Given the description of an element on the screen output the (x, y) to click on. 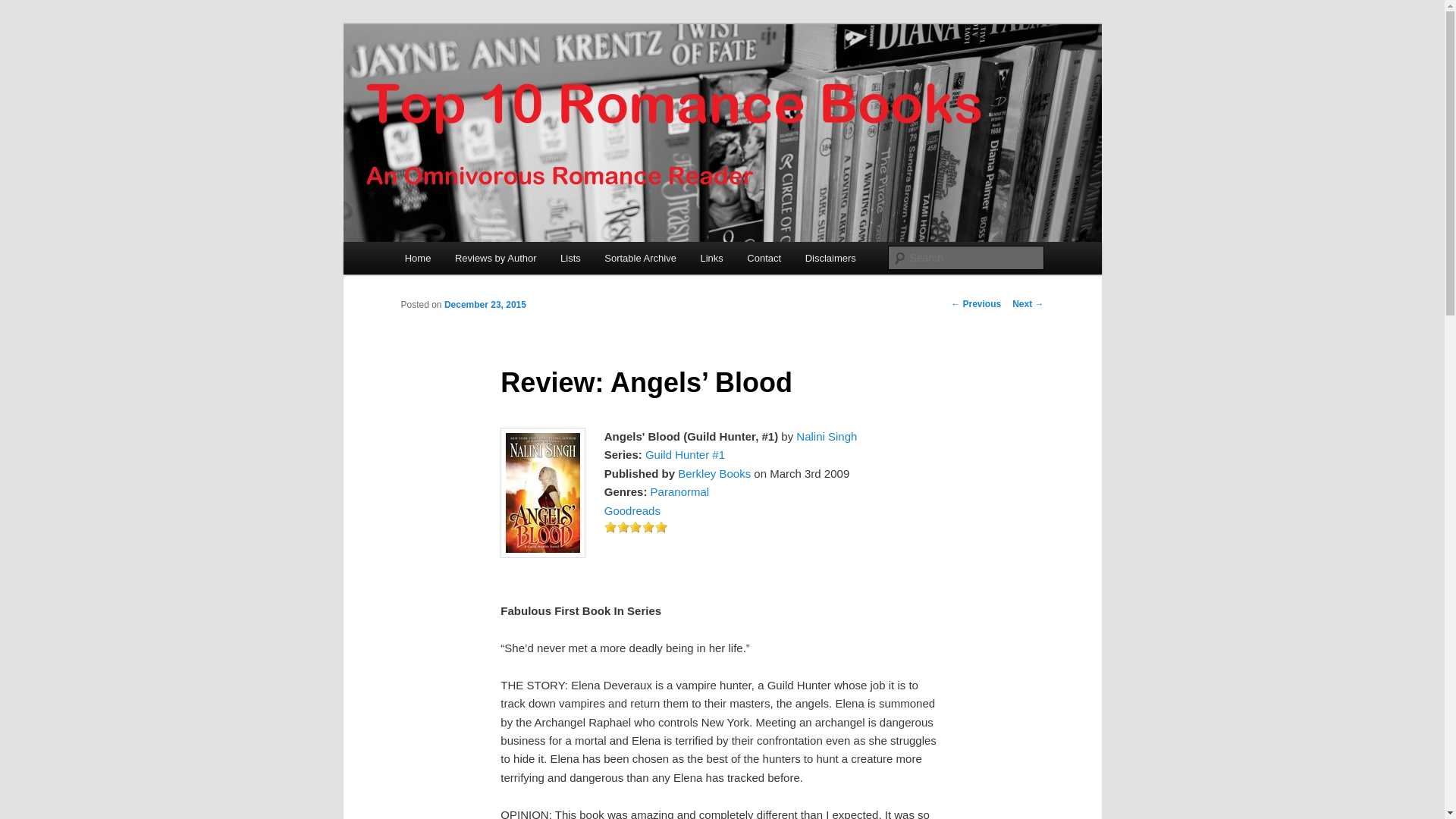
Top 10 Romance Books (528, 78)
Contact (764, 257)
Berkley Books (714, 472)
Lists (570, 257)
Paranormal (680, 491)
December 23, 2015 (484, 304)
Sortable Archive (640, 257)
2:10 pm (484, 304)
Reviews by Author (495, 257)
Nalini Singh (826, 436)
Search (24, 8)
Links (711, 257)
Disclaimers (830, 257)
Goodreads (632, 509)
